Given the description of an element on the screen output the (x, y) to click on. 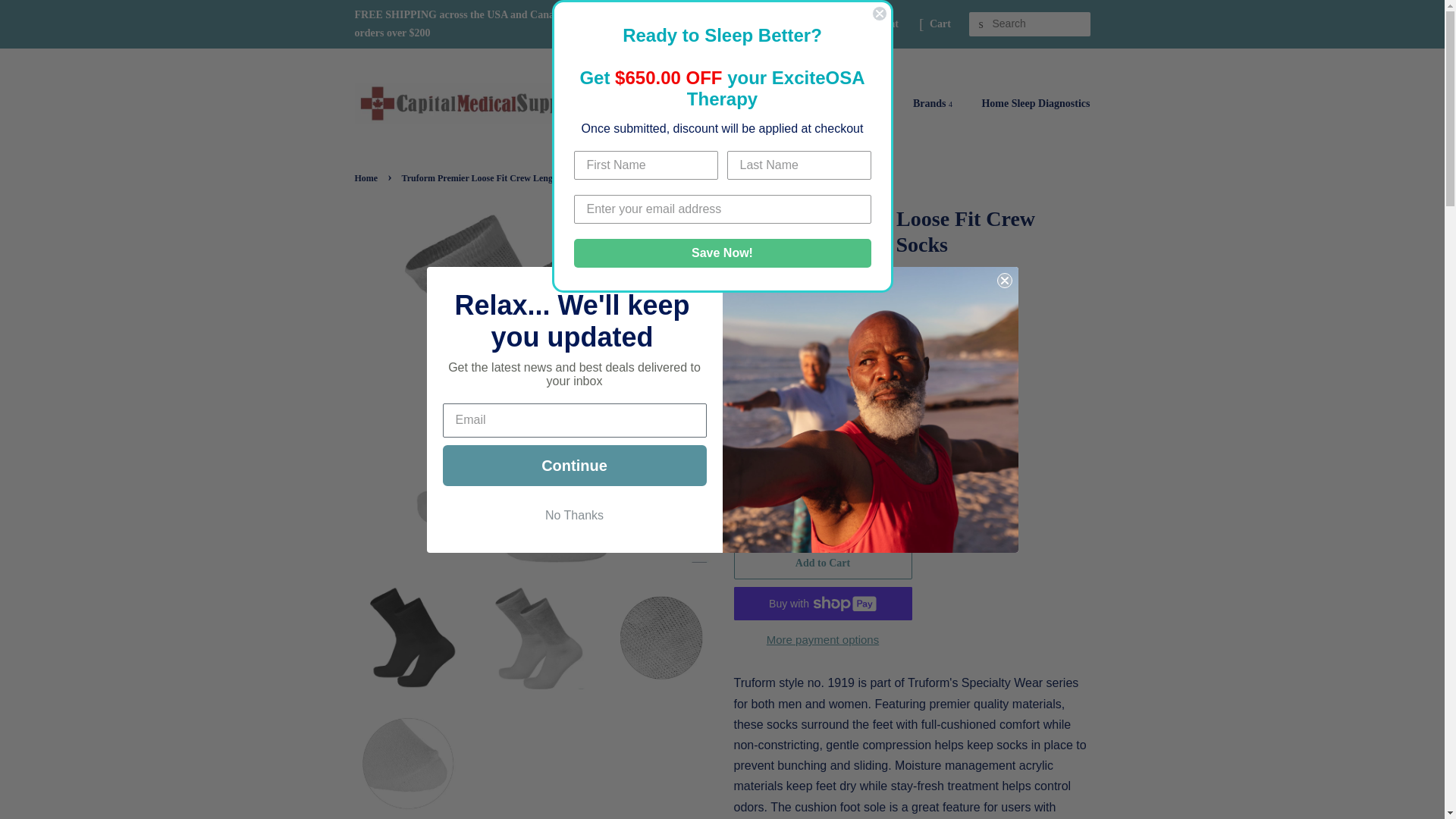
Back to the frontpage (368, 177)
Create account (863, 23)
Log in (791, 23)
1 (822, 507)
Search (980, 24)
Cart (940, 24)
